Given the description of an element on the screen output the (x, y) to click on. 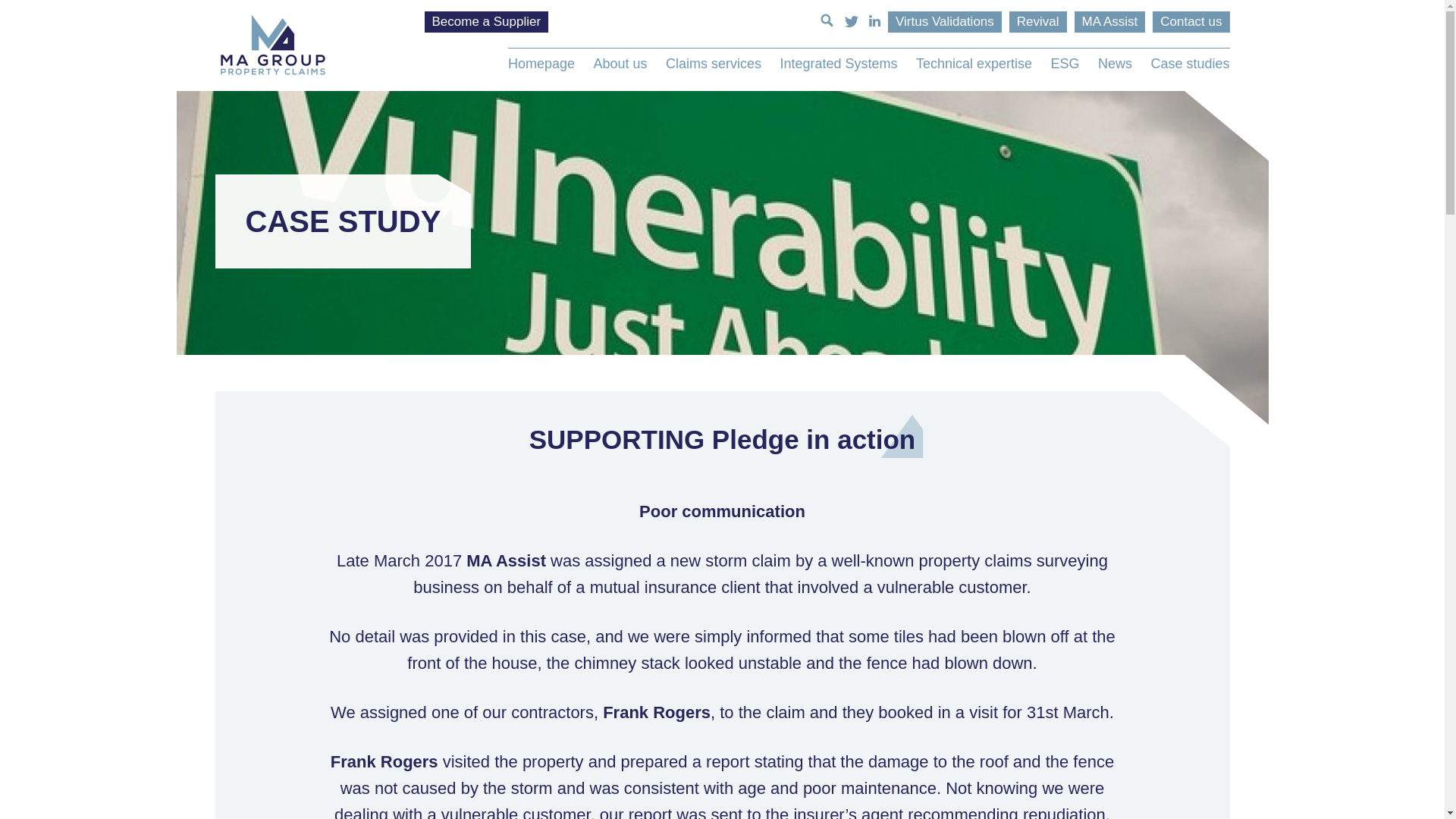
Virtus Validations (944, 21)
About us (619, 63)
Contact us (1190, 21)
Case studies (1185, 63)
Claims services (713, 63)
Become a Supplier (486, 21)
MA Assist (1109, 21)
Search (17, 7)
Integrated Systems (837, 63)
Revival (1038, 21)
News (1115, 63)
ESG (1065, 63)
Technical expertise (973, 63)
Homepage (545, 63)
